Given the description of an element on the screen output the (x, y) to click on. 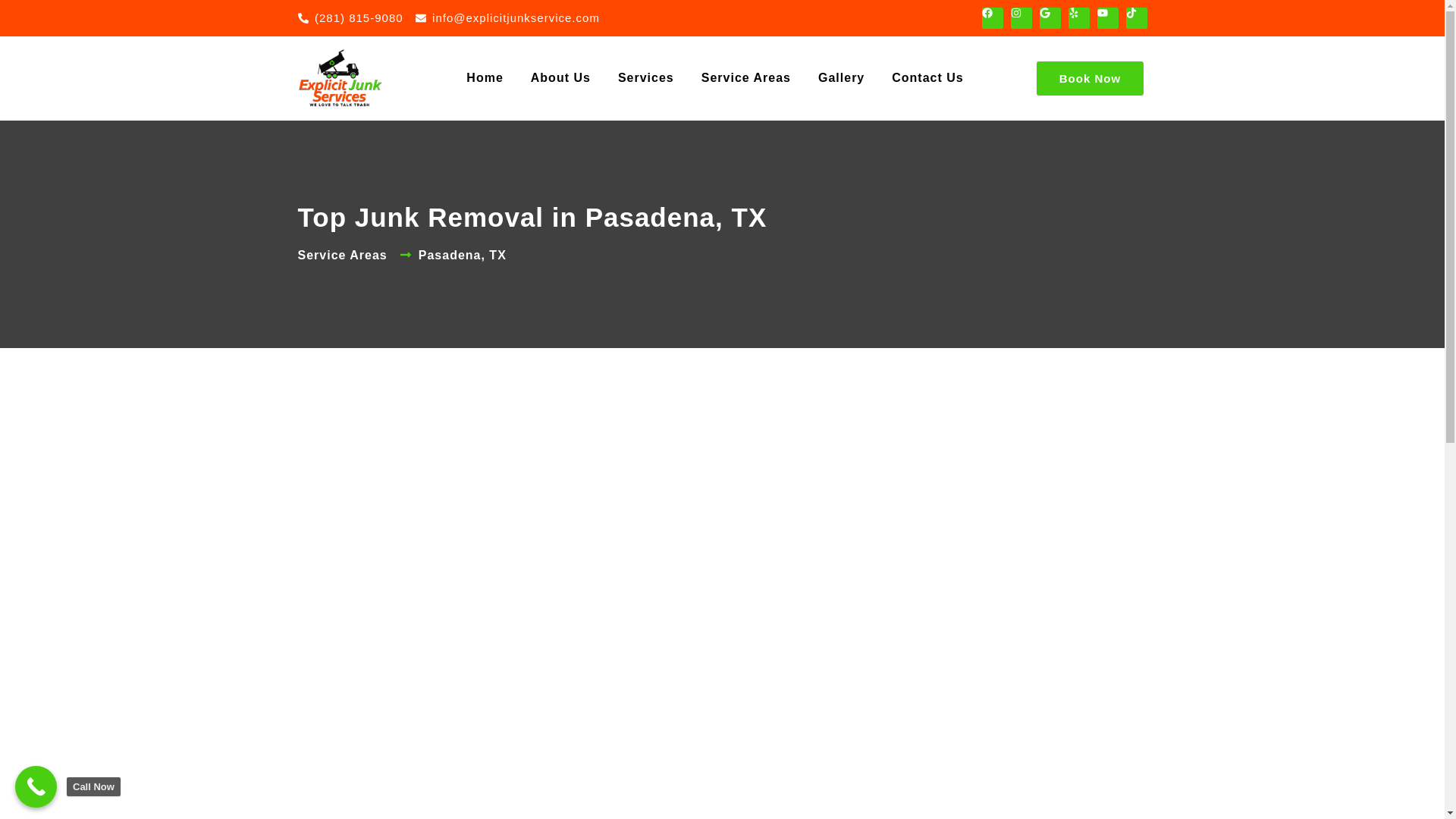
Gallery (841, 78)
Home (484, 78)
Contact Us (926, 78)
About Us (560, 78)
Service Areas (746, 78)
Services (645, 78)
